Given the description of an element on the screen output the (x, y) to click on. 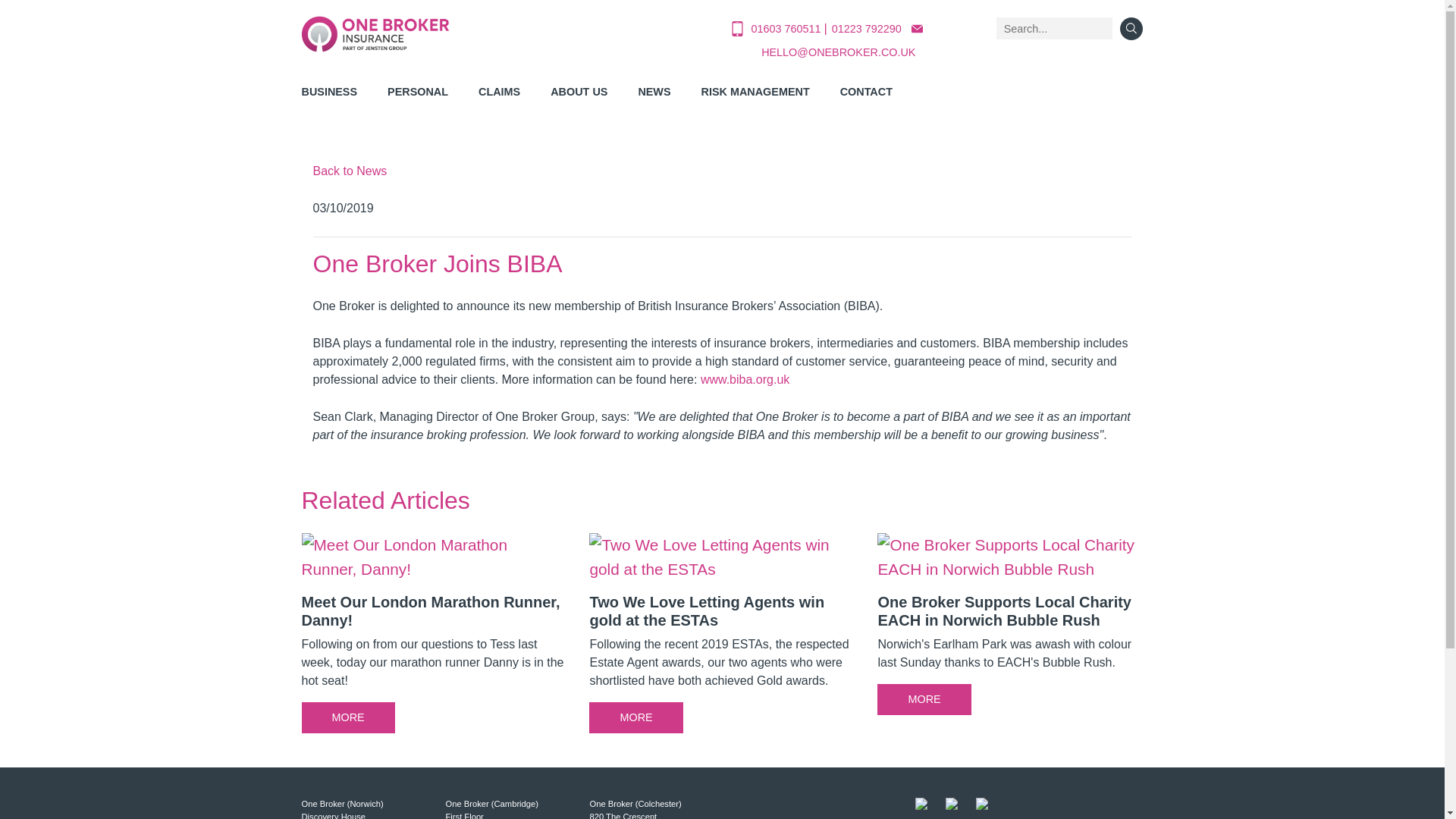
01223 792290 (866, 28)
BIBA website (744, 379)
BUSINESS (329, 94)
Two We Love Letting Agents win gold at the ESTAs (721, 637)
01603 760511 (787, 28)
Meet Our London Marathon Runner, Danny! (434, 637)
